Given the description of an element on the screen output the (x, y) to click on. 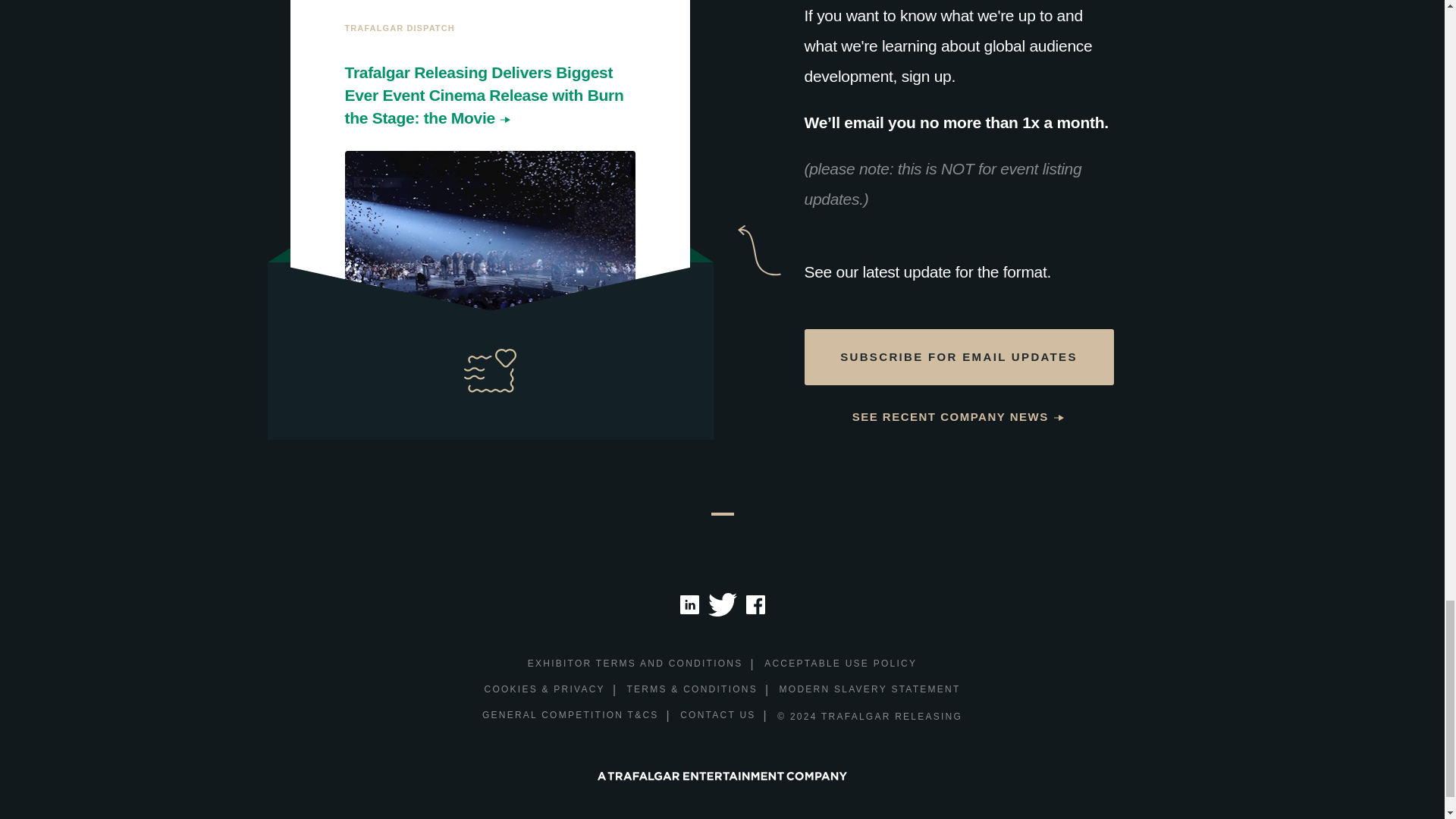
SUBSCRIBE FOR EMAIL UPDATES (958, 356)
CONTACT US (717, 715)
SEE RECENT COMPANY NEWS (958, 416)
ACCEPTABLE USE POLICY (840, 664)
MODERN SLAVERY STATEMENT (869, 690)
EXHIBITOR TERMS AND CONDITIONS (634, 664)
